Given the description of an element on the screen output the (x, y) to click on. 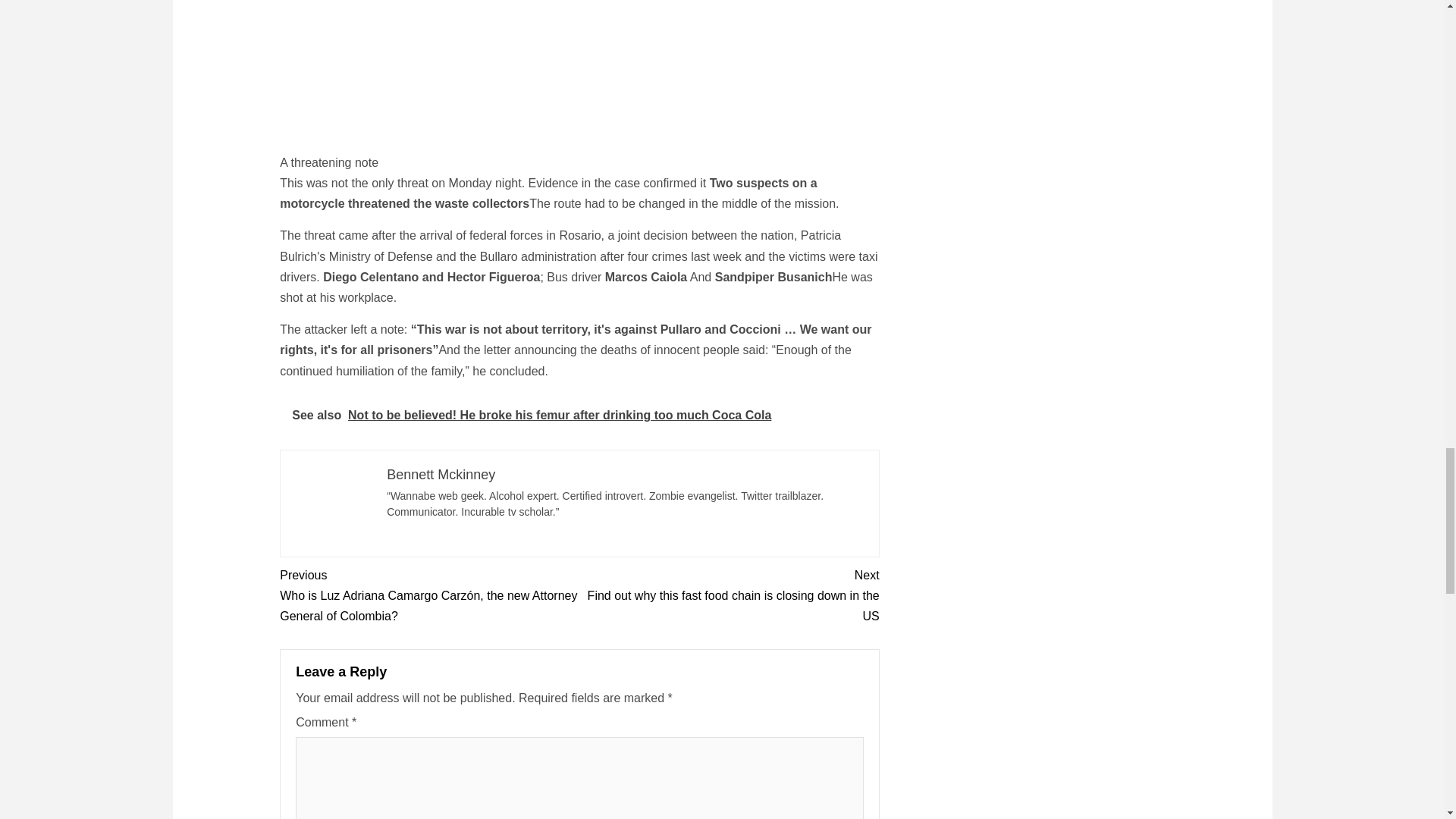
Bennett Mckinney (441, 474)
